Given the description of an element on the screen output the (x, y) to click on. 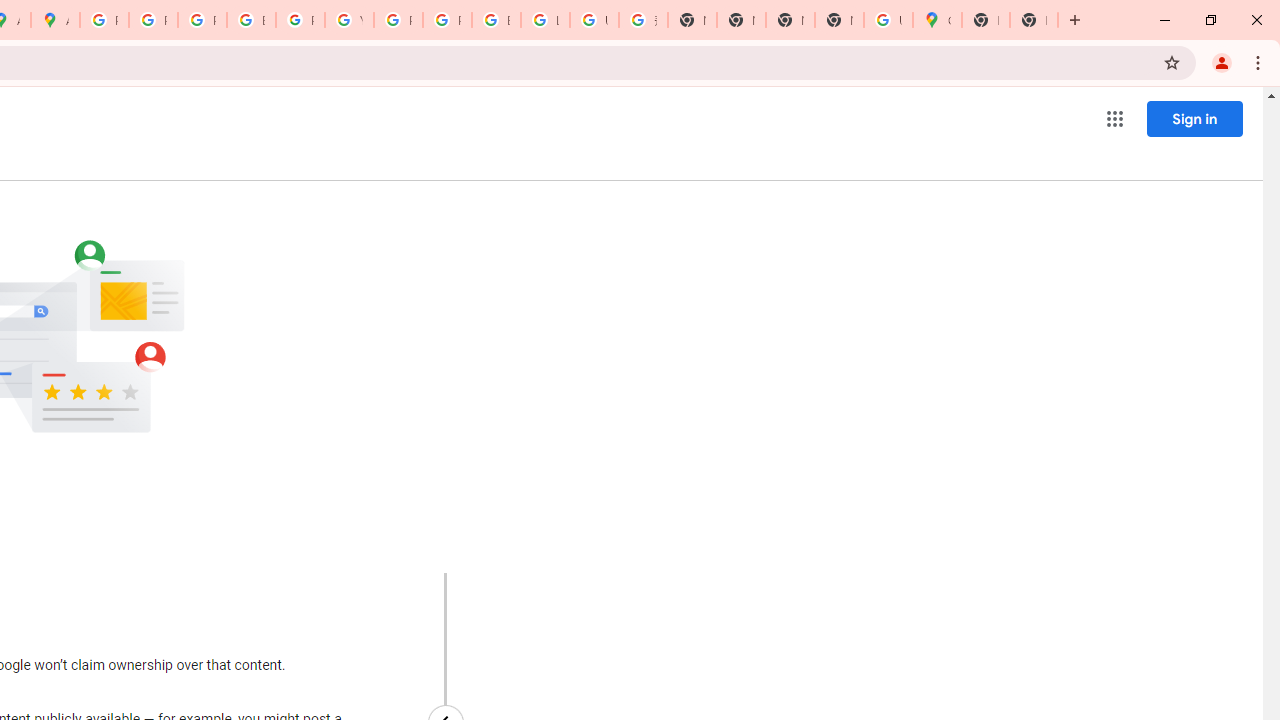
New Tab (985, 20)
New Tab (1033, 20)
Google Maps (937, 20)
Browse Chrome as a guest - Computer - Google Chrome Help (496, 20)
